Given the description of an element on the screen output the (x, y) to click on. 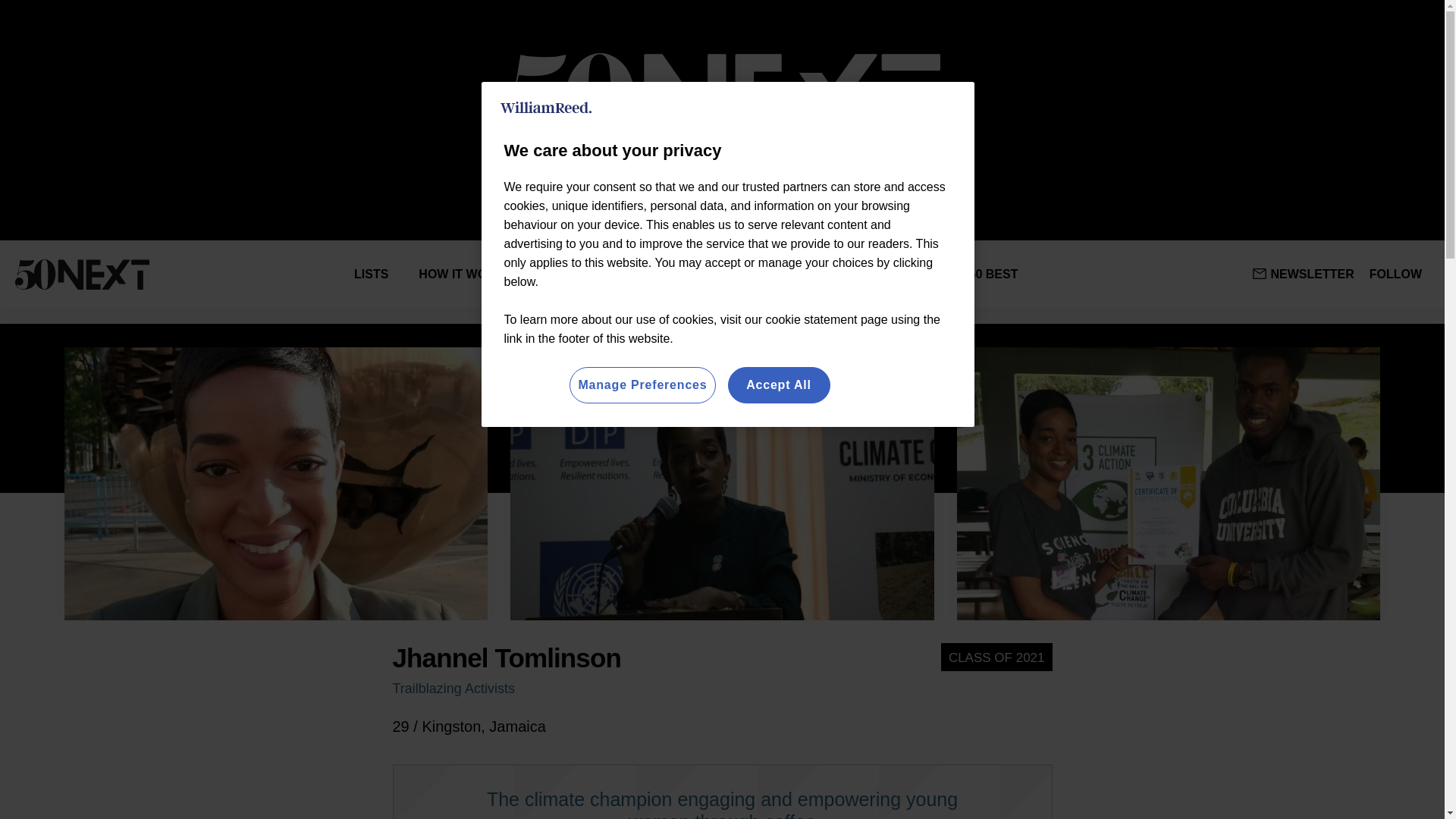
50 Next - Jhannel Tomlinson - Trailblazing Activists (275, 483)
